Given the description of an element on the screen output the (x, y) to click on. 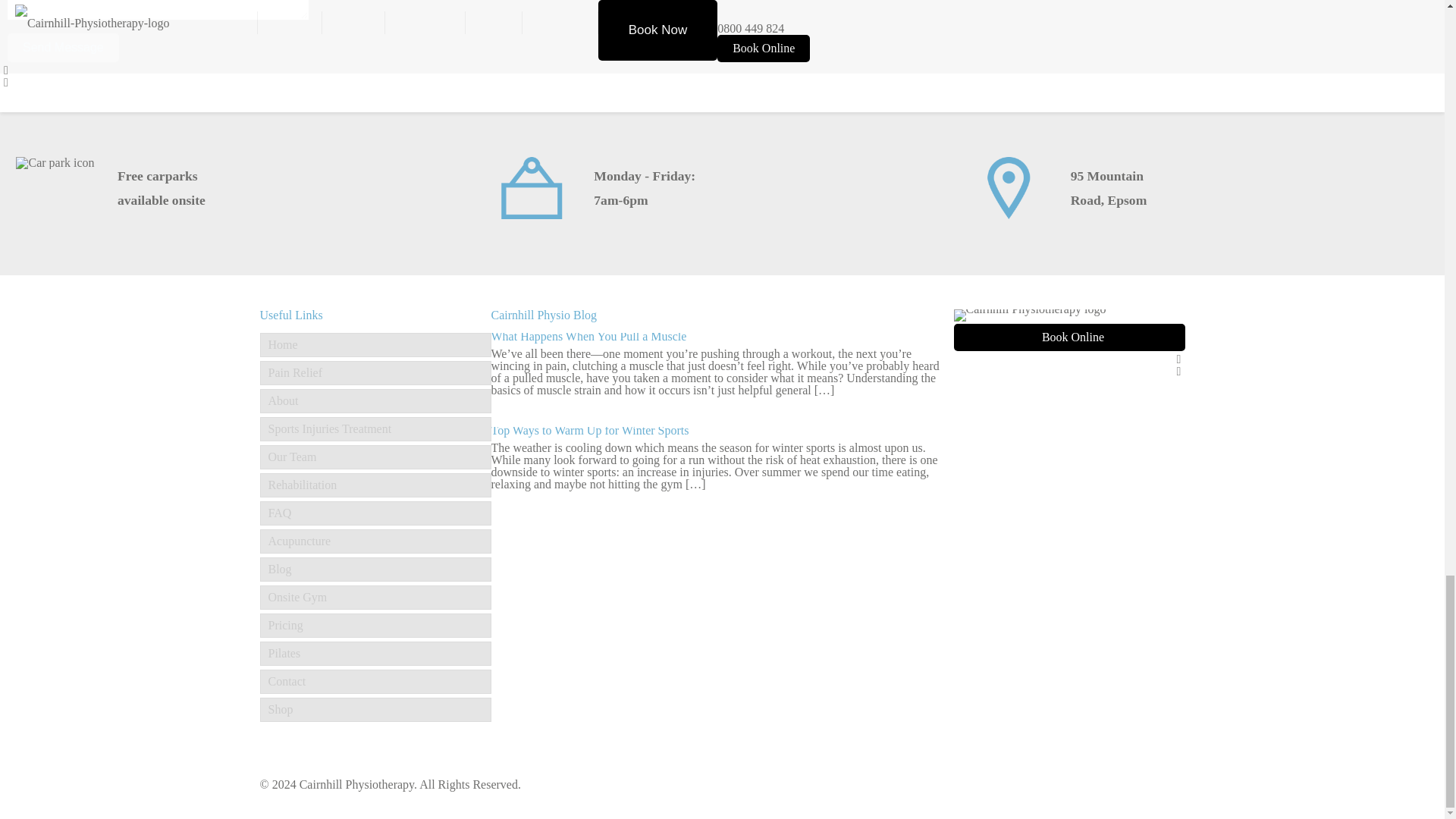
Facebook (1178, 358)
Sports Injuries Treatment (374, 428)
Send Message (63, 47)
Our Team (374, 457)
FAQ (374, 513)
Acupuncture (374, 541)
Send Message (63, 47)
About (374, 401)
Pain Relief (374, 372)
Home (374, 344)
Rehabilitation (374, 485)
Instagram (1178, 370)
Blog (374, 569)
